Given the description of an element on the screen output the (x, y) to click on. 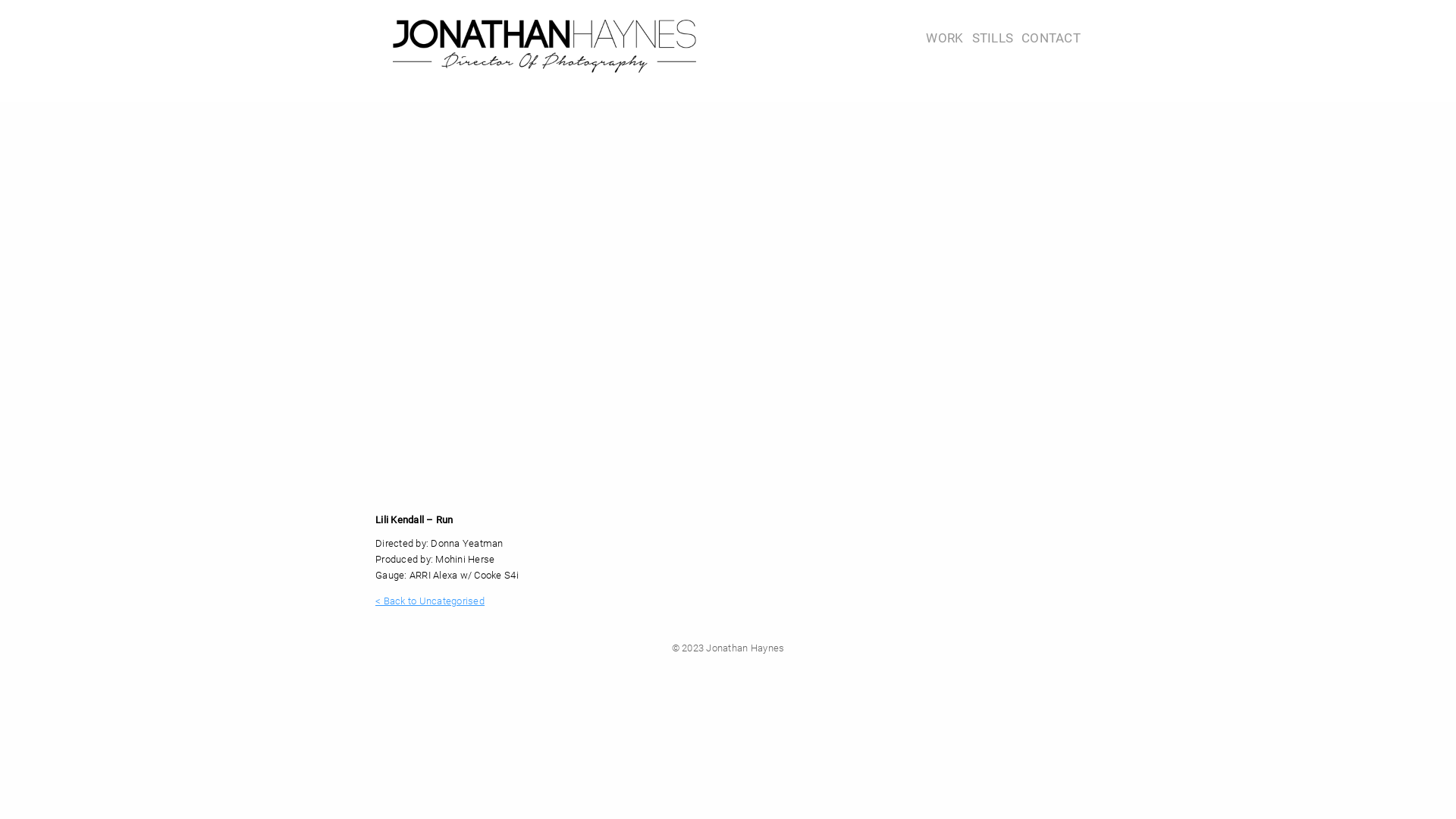
< Back to Uncategorised Element type: text (429, 600)
STILLS Element type: text (992, 37)
WORK Element type: text (944, 37)
CONTACT Element type: text (1050, 37)
